Given the description of an element on the screen output the (x, y) to click on. 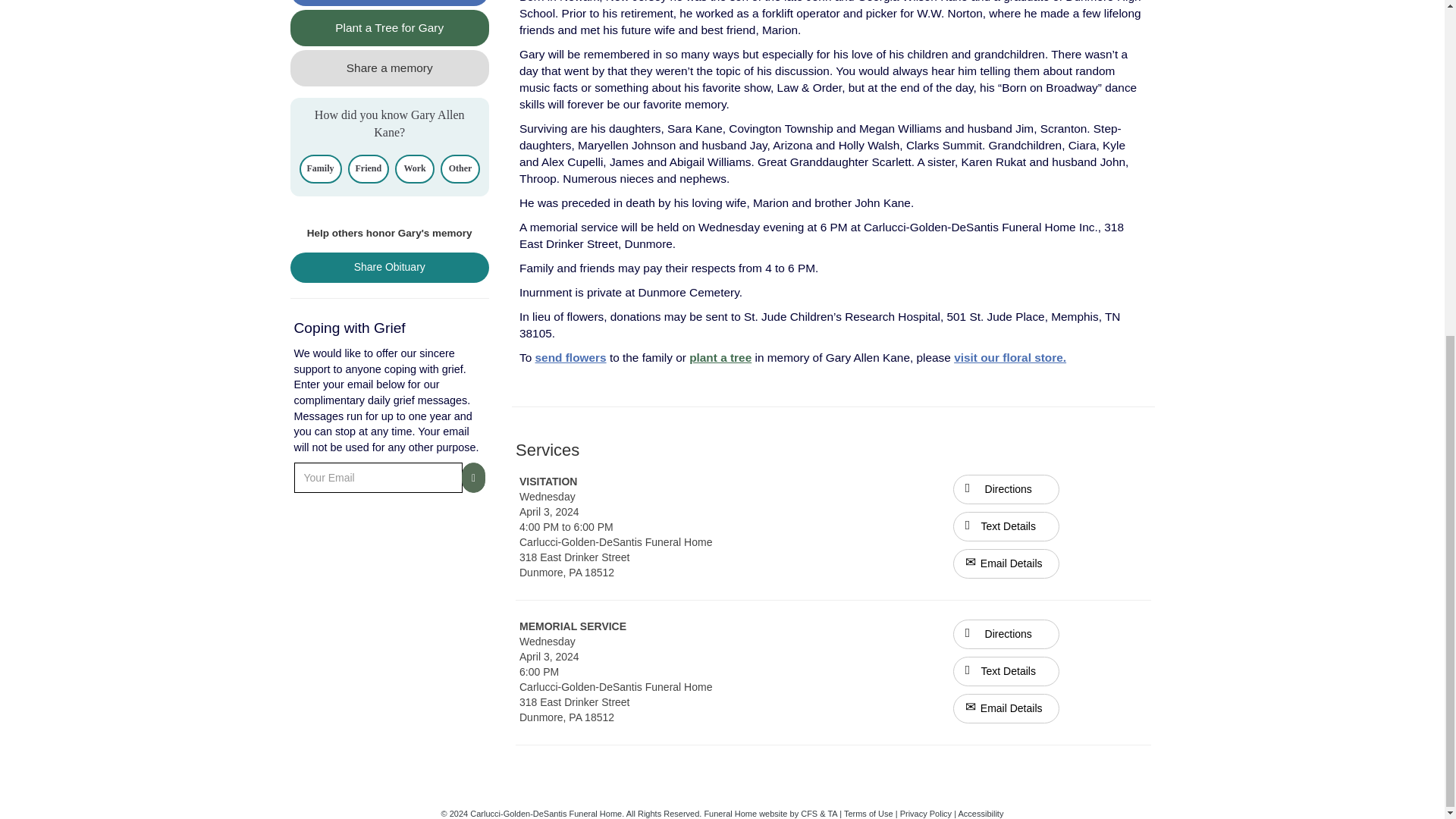
plant a tree (719, 357)
Text Details (1006, 526)
Directions (1006, 634)
Plant a Tree for Gary (389, 27)
Email Details (1006, 708)
Directions (1006, 633)
Share a memory (389, 67)
CFS (808, 813)
Directions (1006, 488)
Share Obituary (389, 267)
send flowers (571, 357)
Email Details (1006, 563)
Text Details (1006, 671)
visit our floral store. (1009, 357)
Directions (1006, 489)
